Given the description of an element on the screen output the (x, y) to click on. 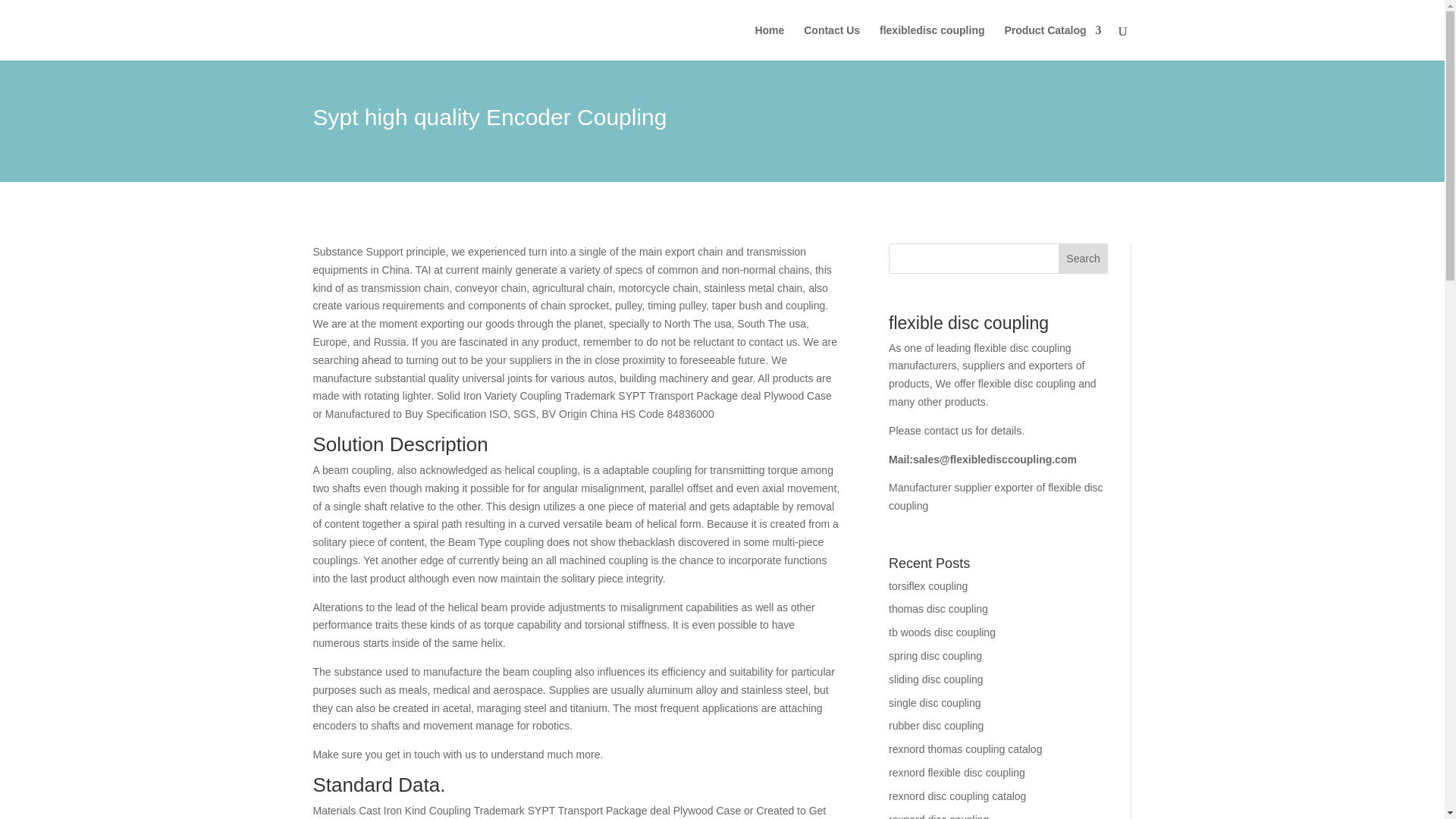
torsiflex coupling (928, 585)
spring disc coupling (934, 655)
single disc coupling (933, 702)
Search (1083, 258)
sliding disc coupling (936, 679)
thomas disc coupling (938, 608)
rexnord flexible disc coupling (956, 772)
Product Catalog (1052, 42)
tb woods disc coupling (941, 632)
flexibledisc coupling (931, 42)
rubber disc coupling (936, 725)
Search (1083, 258)
rexnord disc coupling (938, 816)
rexnord disc coupling catalog (957, 796)
Contact Us (831, 42)
